Given the description of an element on the screen output the (x, y) to click on. 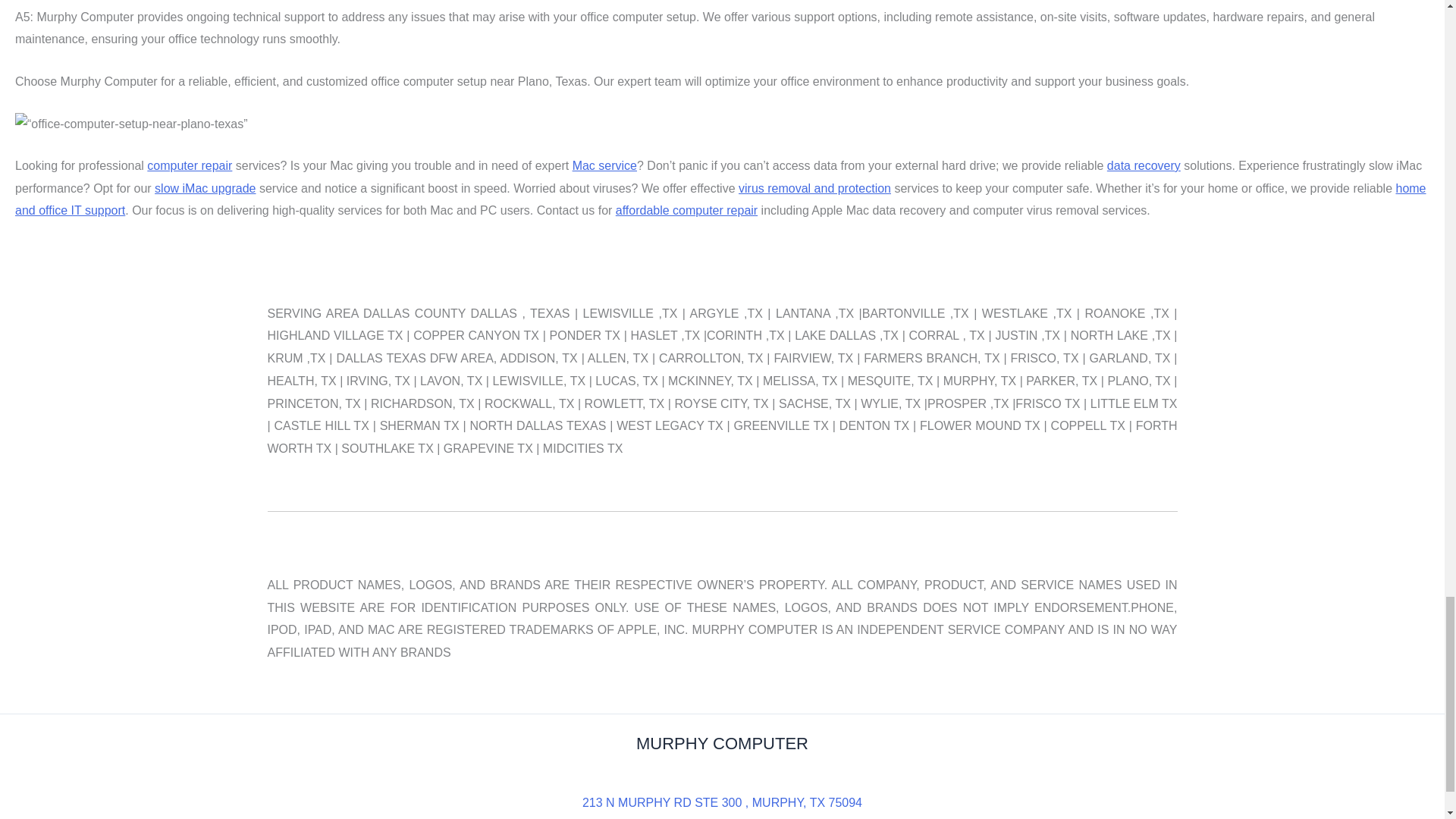
Mac service (604, 164)
slow iMac upgrade (205, 187)
data recovery (1143, 164)
affordable computer repair (686, 210)
213 N MURPHY RD STE 300 , MURPHY, TX 75094 (721, 802)
computer repair (189, 164)
virus removal and protection (814, 187)
home and office IT support (720, 199)
